Given the description of an element on the screen output the (x, y) to click on. 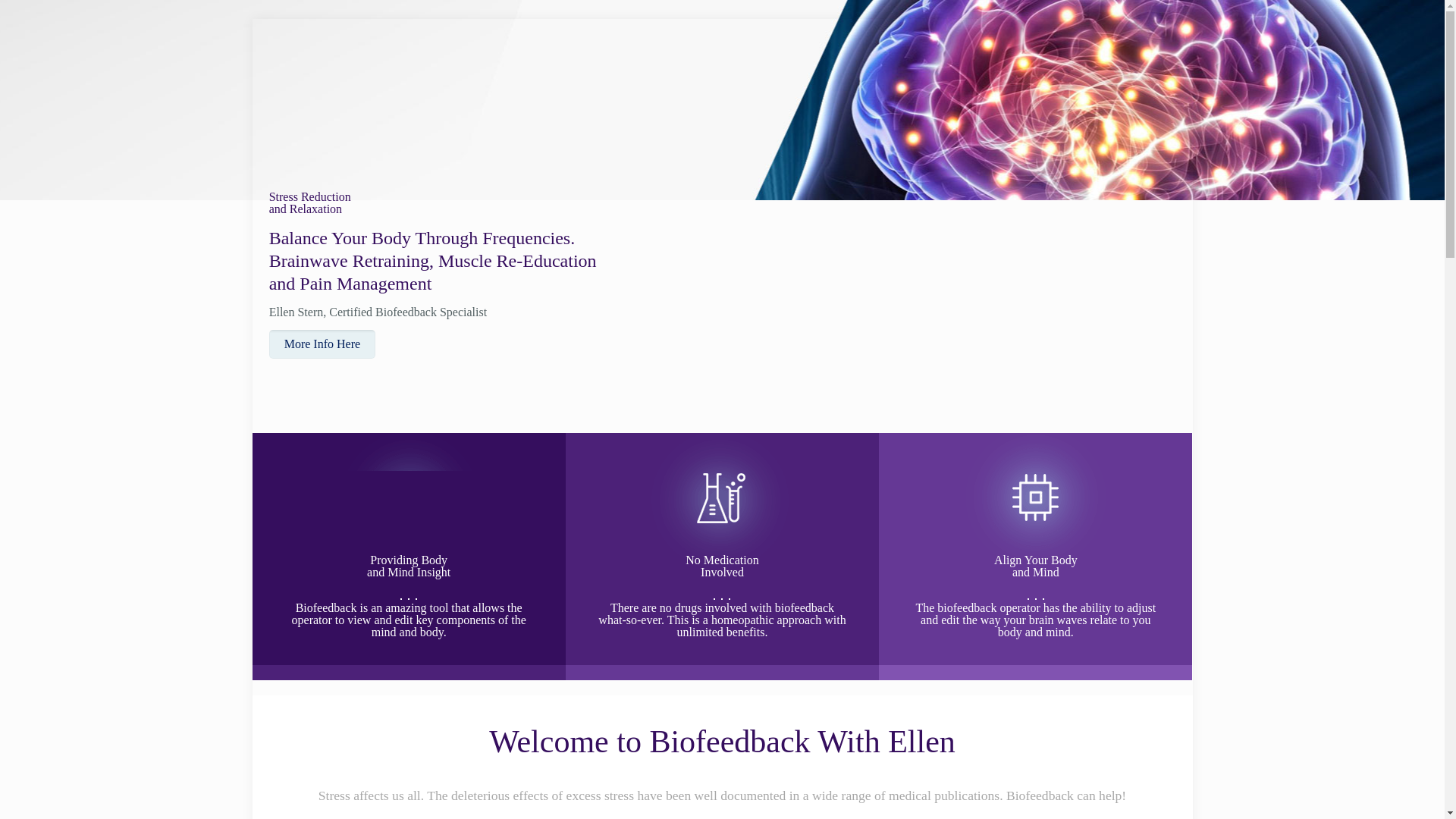
More Info Here (322, 344)
More Info Here (322, 344)
